Given the description of an element on the screen output the (x, y) to click on. 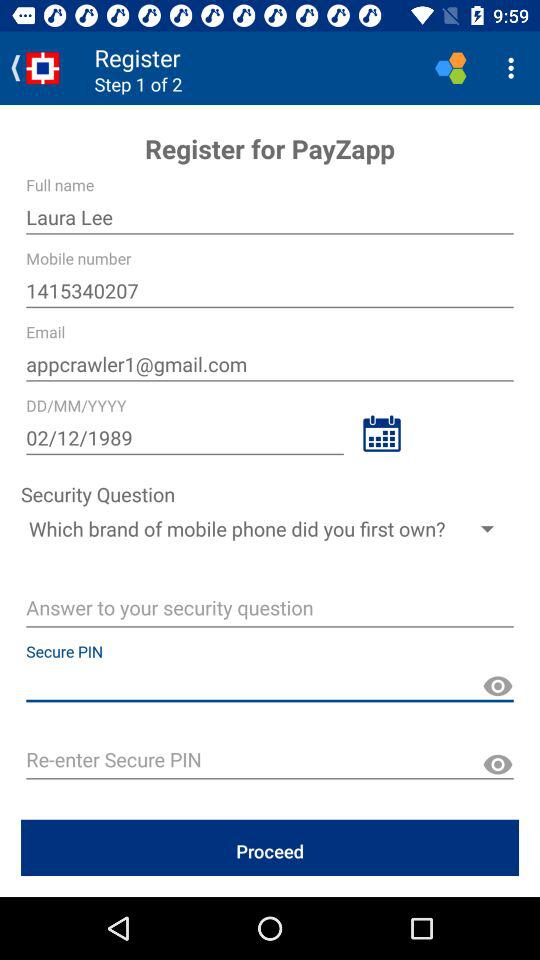
type your security question answer (270, 610)
